Given the description of an element on the screen output the (x, y) to click on. 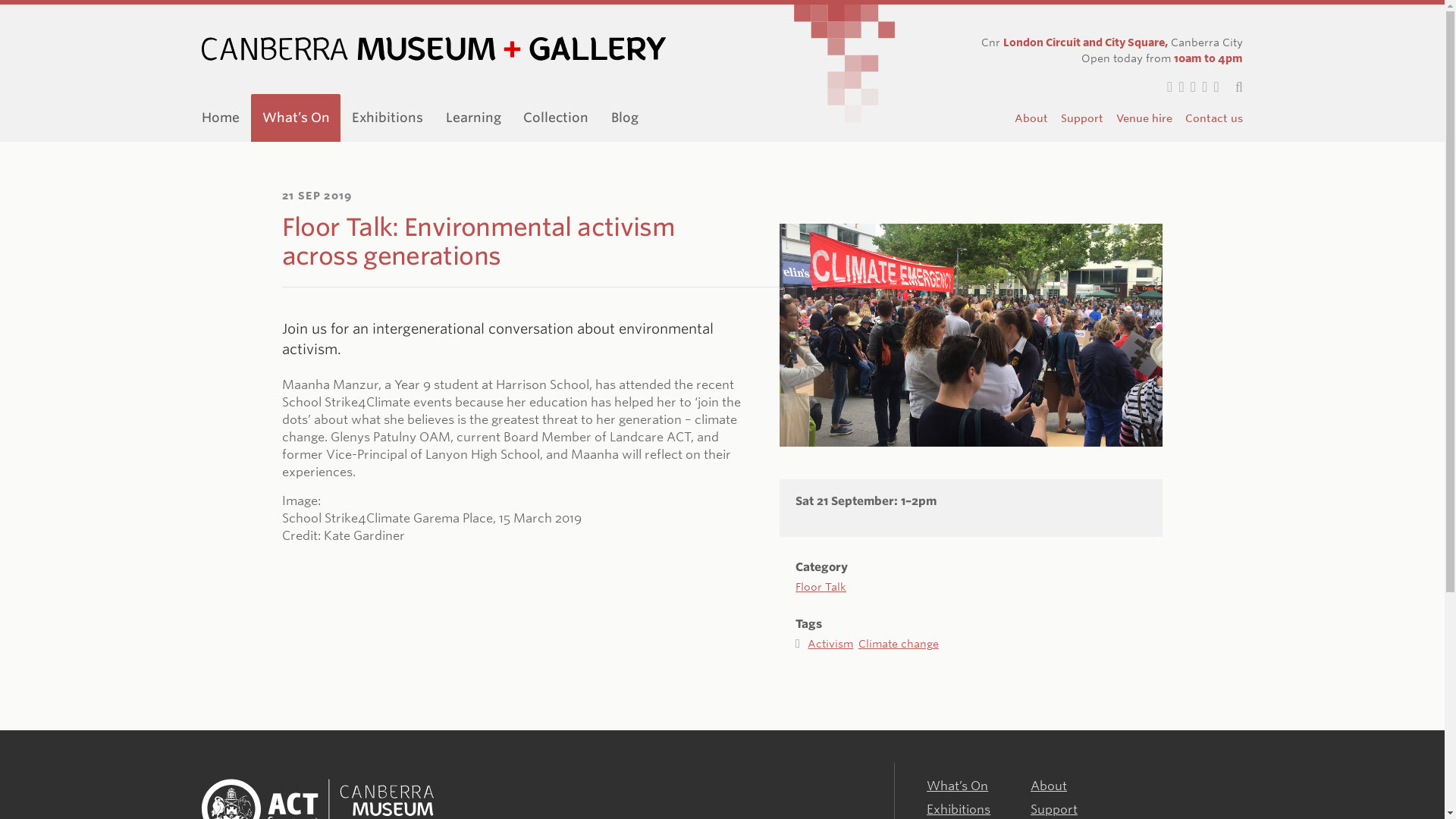
Exhibitions (958, 809)
Blog (624, 117)
About (1048, 785)
Learning (472, 117)
Canberra Museum and Gallery (317, 798)
Exhibitions (386, 117)
Activism (832, 644)
Search Canberra Museum and Gallery (1231, 86)
Venue hire (1144, 118)
Canberra Museum and Gallery (433, 48)
Floor Talk (819, 574)
Support (1053, 809)
Climate change (899, 644)
Home (220, 117)
Support (1081, 118)
